Given the description of an element on the screen output the (x, y) to click on. 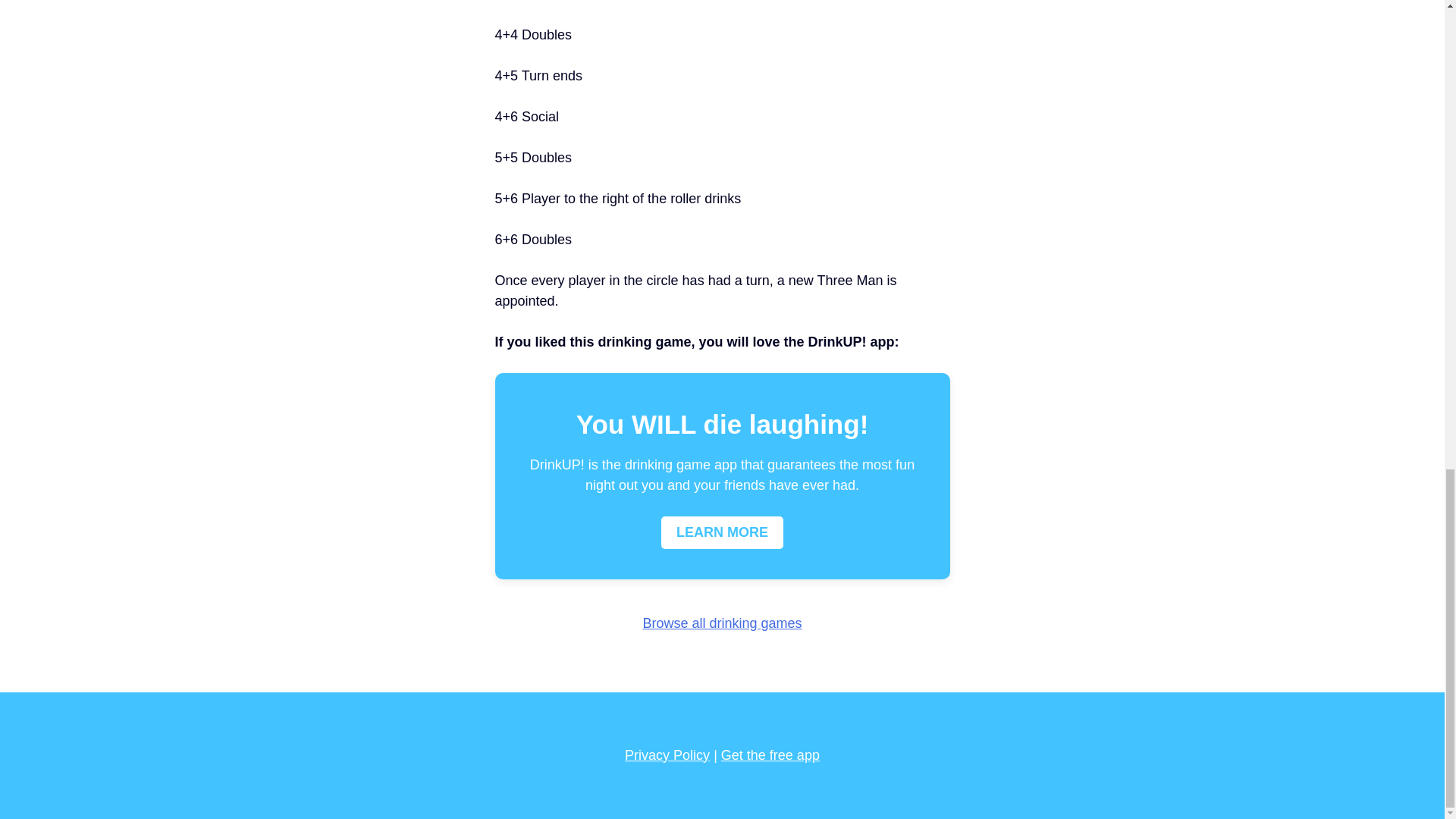
Privacy Policy (667, 754)
LEARN MORE (722, 532)
Get the free app (769, 754)
Browse all drinking games (722, 622)
